Given the description of an element on the screen output the (x, y) to click on. 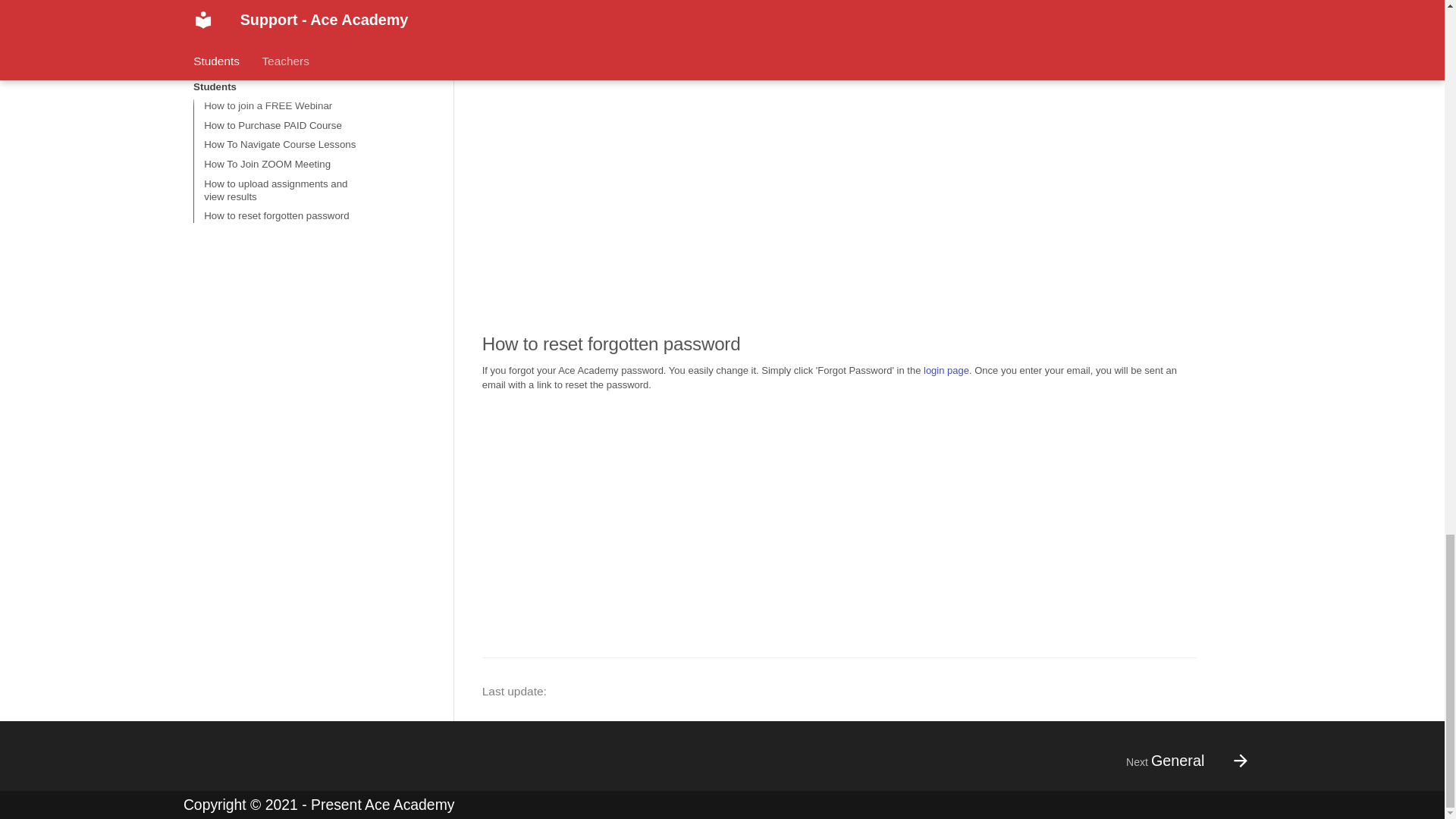
login page (946, 369)
YouTube video player (690, 516)
Next General (1180, 761)
YouTube video player (690, 183)
